Given the description of an element on the screen output the (x, y) to click on. 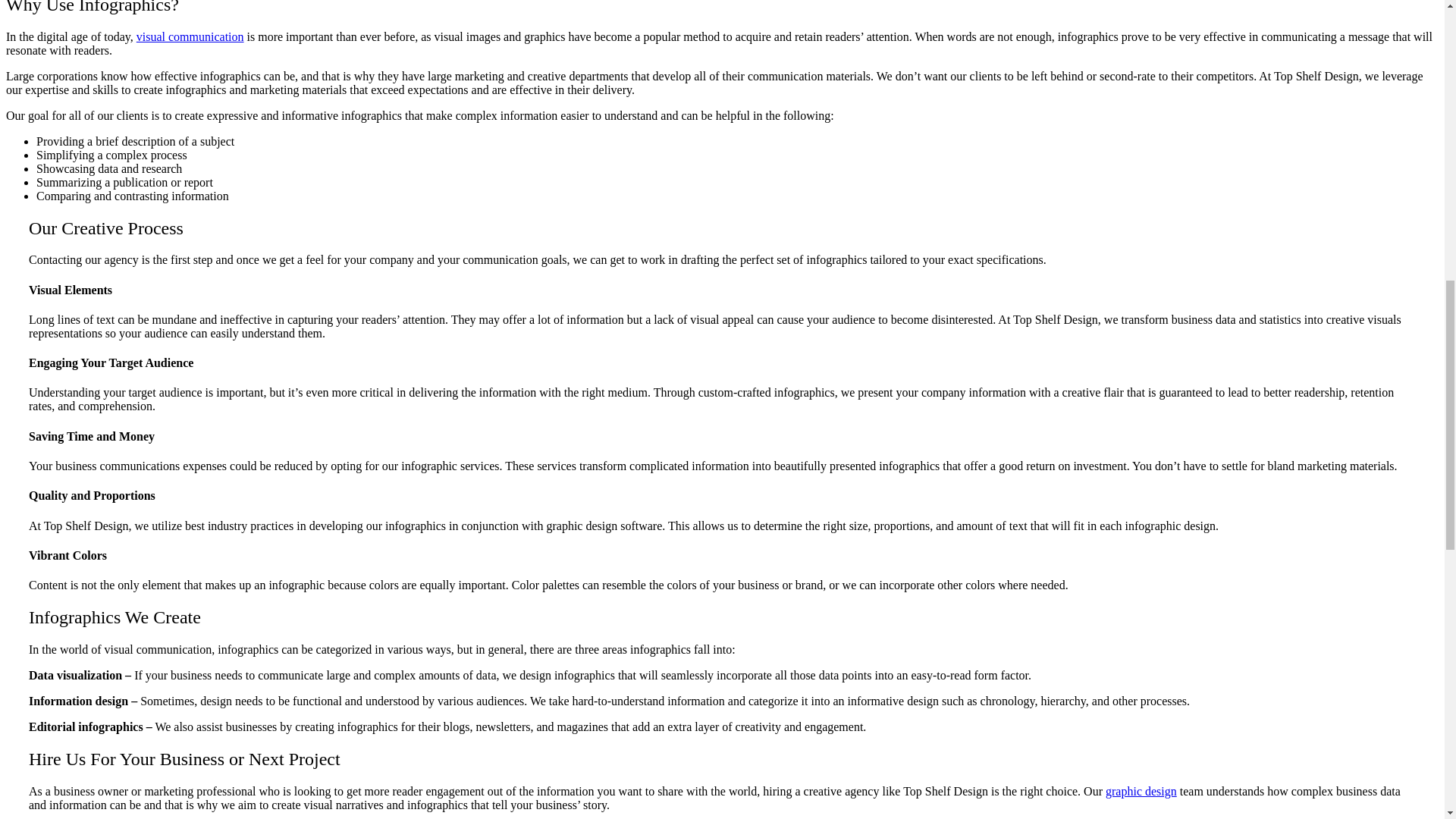
visual communication (190, 36)
graphic design (1140, 790)
